Given the description of an element on the screen output the (x, y) to click on. 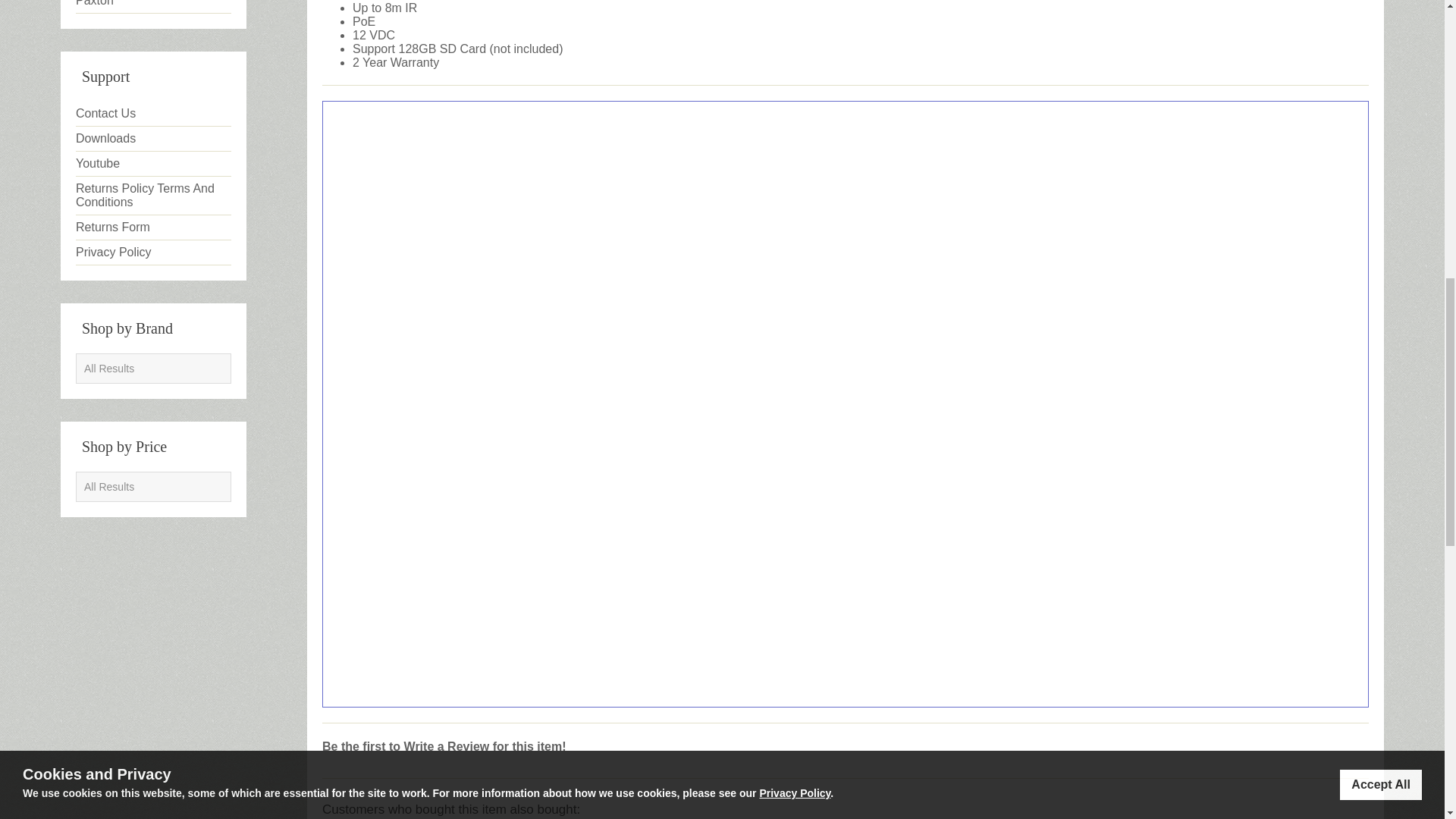
Write a Review (446, 746)
Contact Us (153, 113)
Returns Form (153, 227)
Returns Policy Terms And Conditions (153, 195)
Paxton (153, 6)
Privacy Policy (153, 252)
Downloads (153, 138)
Youtube (153, 163)
